Given the description of an element on the screen output the (x, y) to click on. 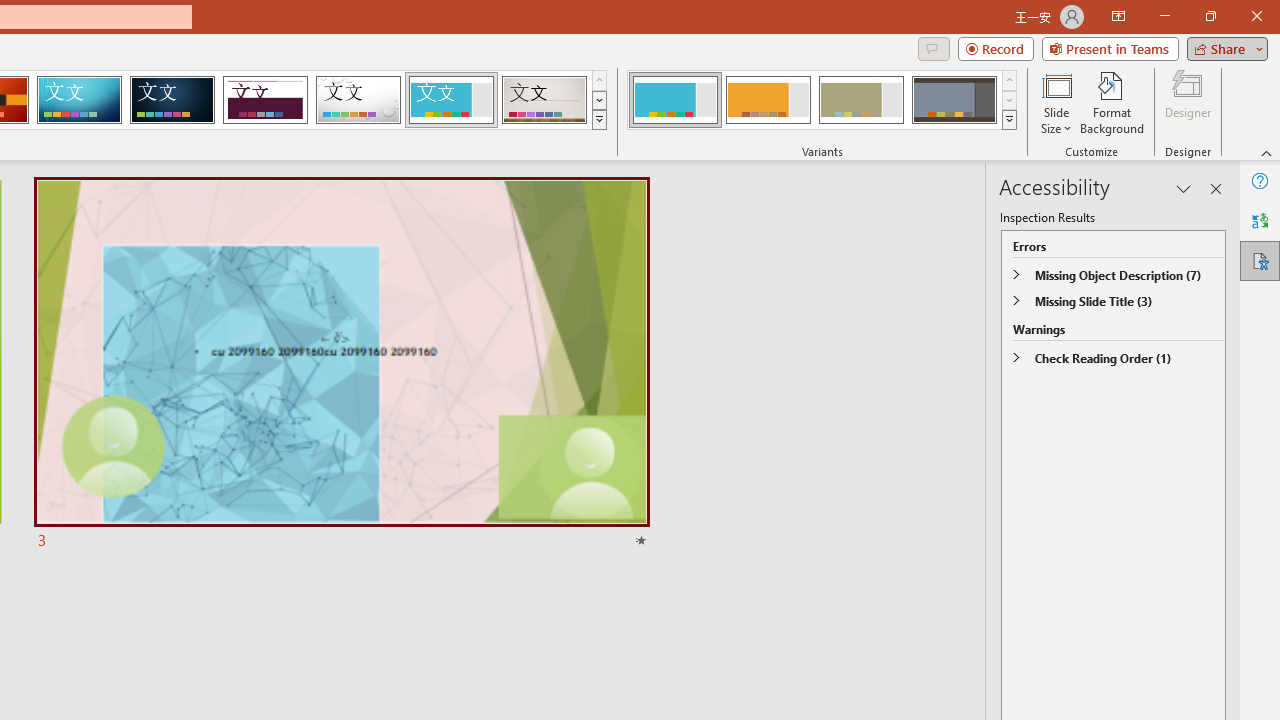
Themes (598, 120)
Frame Variant 4 (953, 100)
Variants (1009, 120)
Dividend (265, 100)
Frame Variant 3 (861, 100)
Damask (171, 100)
AutomationID: ThemeVariantsGallery (822, 99)
